Given the description of an element on the screen output the (x, y) to click on. 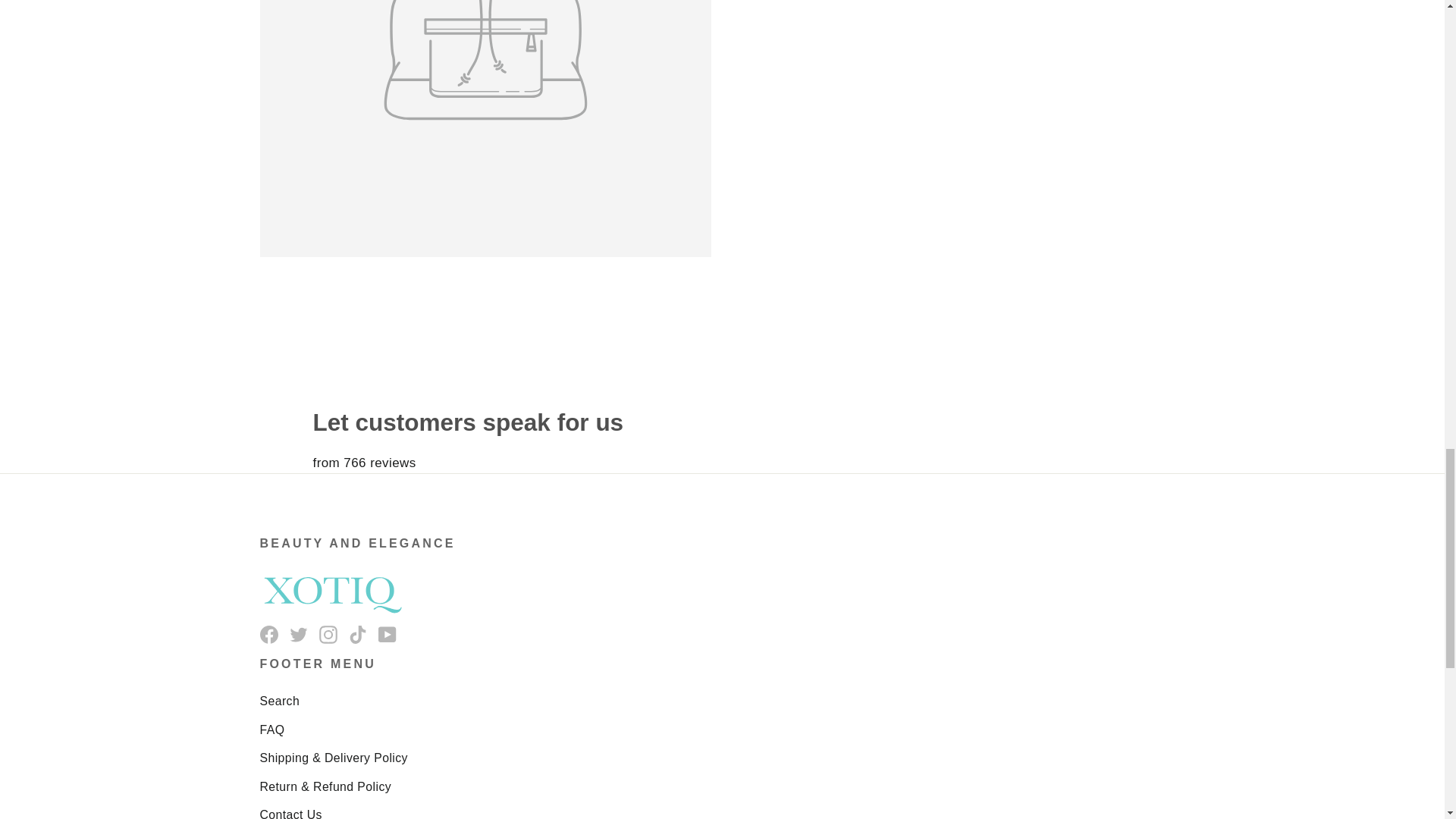
XOTIQ Cosmetics on Twitter (298, 633)
XOTIQ Cosmetics on Instagram (327, 633)
XOTIQ Cosmetics on TikTok (357, 633)
